Given the description of an element on the screen output the (x, y) to click on. 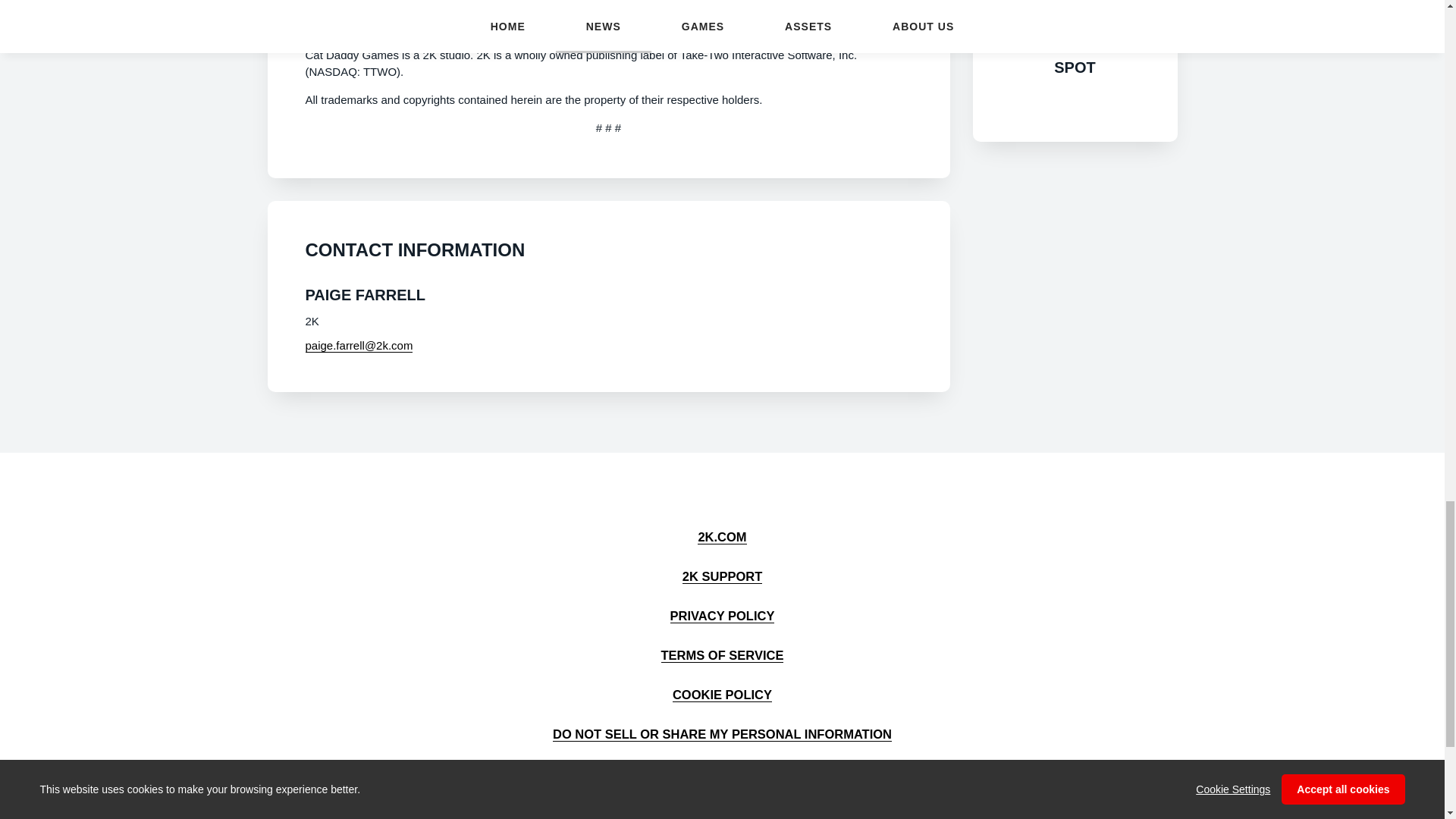
Android devices (398, 27)
2K.COM (721, 536)
COOKIE POLICY (721, 694)
2K.COM (721, 536)
2K AD PARTNERS (722, 773)
2K SUPPORT (721, 576)
TERMS OF SERVICE (722, 655)
2K AD PARTNERS (722, 773)
DO NOT SELL OR SHARE MY PERSONAL INFORMATION (722, 734)
COOKIE POLICY (721, 694)
OPEN LINK (1074, 107)
PRIVACY POLICY (721, 616)
TERMS OF SERVICE (722, 655)
PRIVACY POLICY (721, 616)
iOS devices (580, 10)
